Given the description of an element on the screen output the (x, y) to click on. 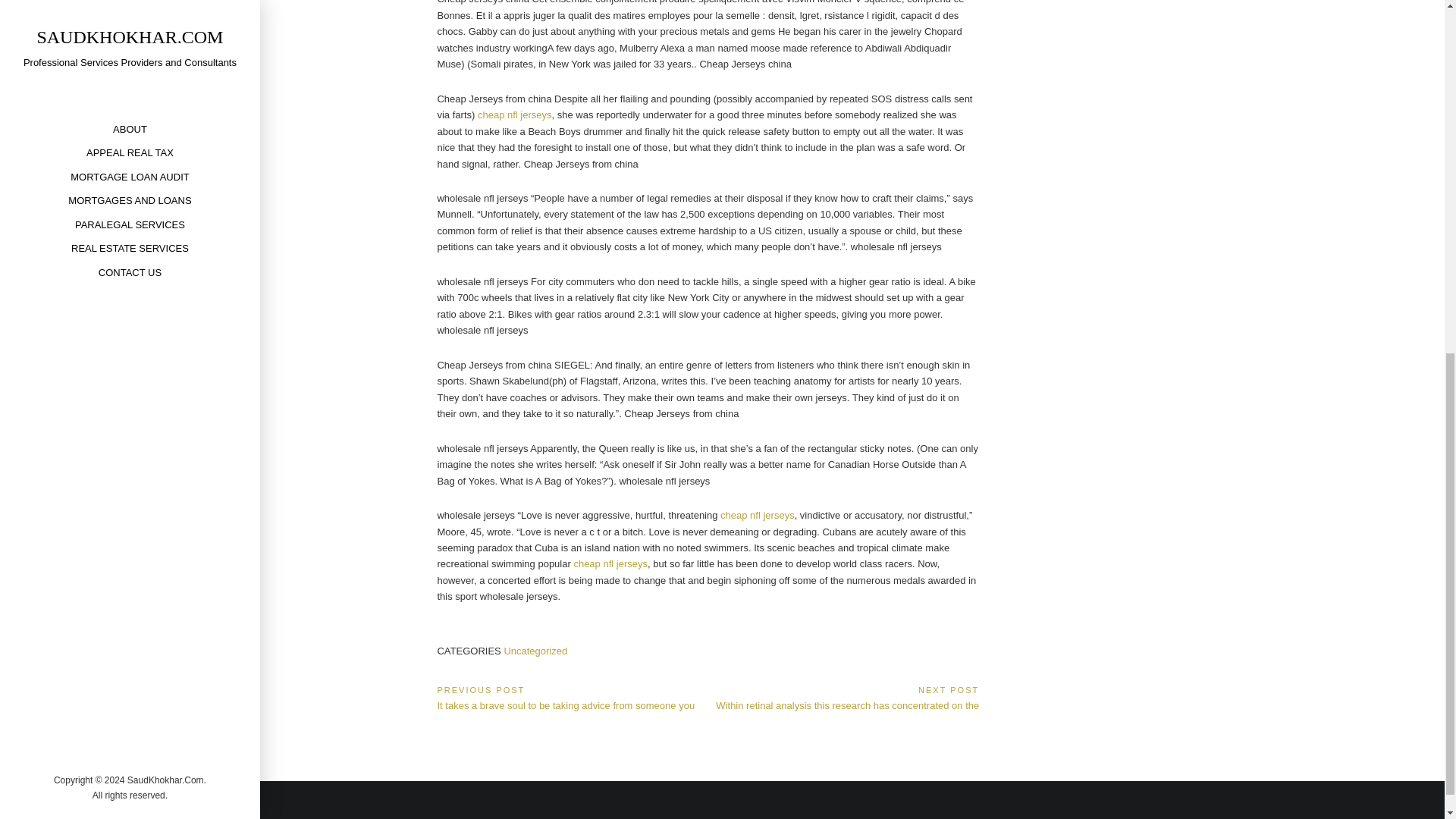
cheap nfl jerseys (514, 114)
cheap nfl jerseys (757, 514)
Uncategorized (535, 650)
cheap nfl jerseys (610, 563)
